Given the description of an element on the screen output the (x, y) to click on. 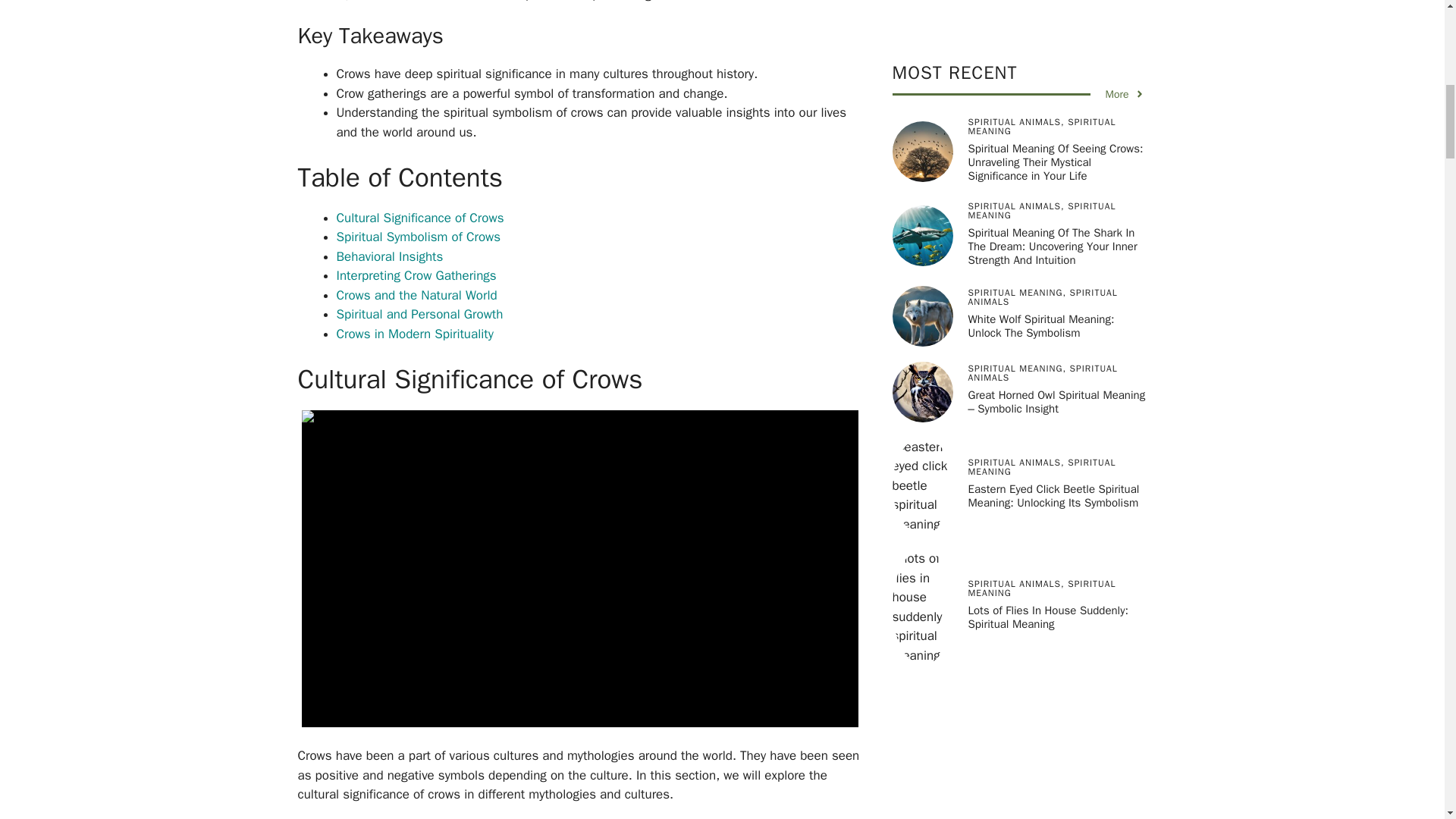
Behavioral Insights (390, 256)
Crows in Modern Spirituality (414, 333)
Spiritual and Personal Growth (419, 314)
Interpreting Crow Gatherings (416, 275)
Crows and the Natural World (416, 295)
Scroll back to top (1406, 720)
Cultural Significance of Crows (419, 217)
Spiritual Symbolism of Crows (418, 236)
